Given the description of an element on the screen output the (x, y) to click on. 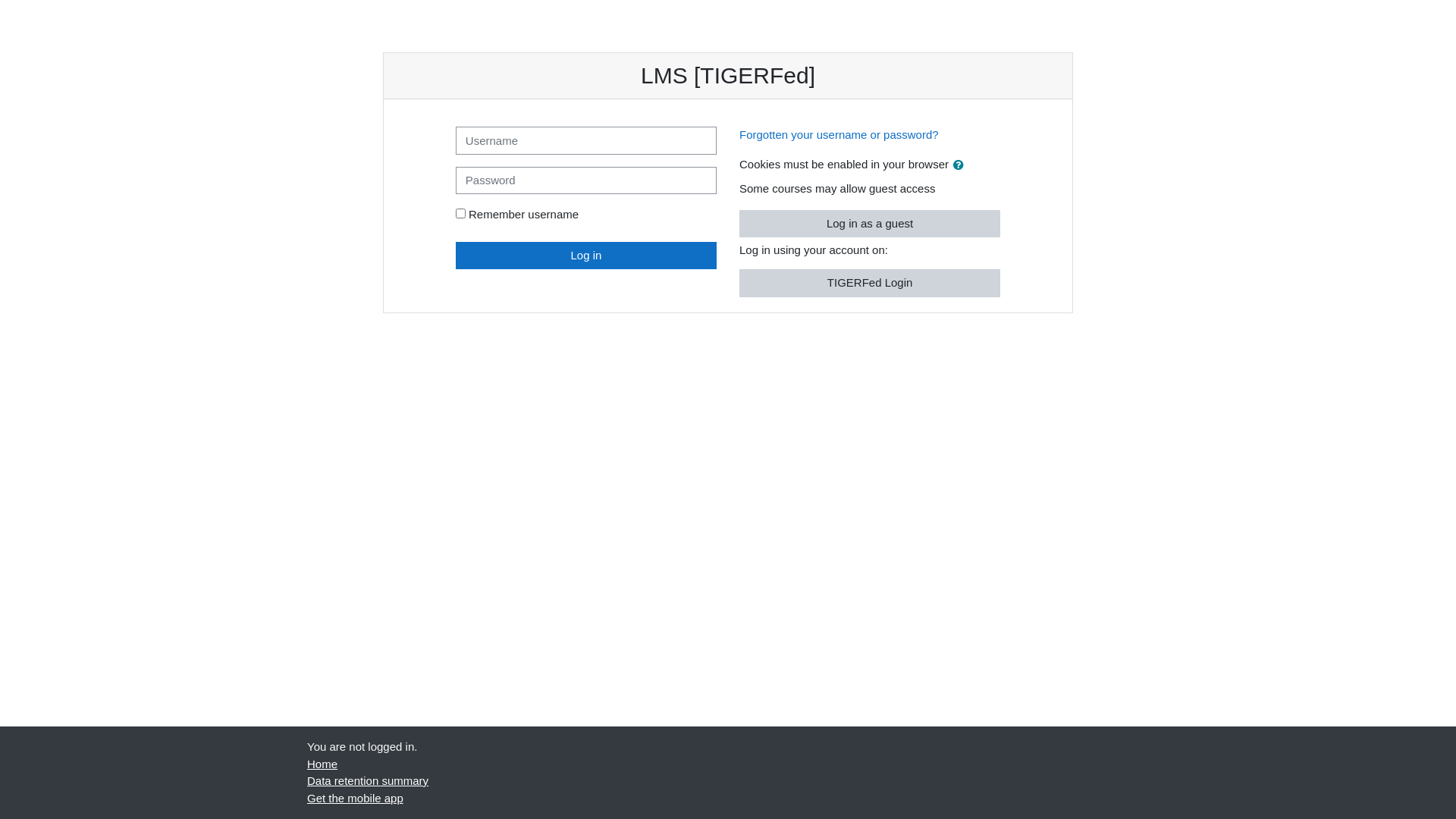
Log in as a guest Element type: text (869, 223)
Log in Element type: text (585, 255)
Get the mobile app Element type: text (355, 797)
Home Element type: text (322, 762)
TIGERFed Login Element type: text (869, 283)
Forgotten your username or password? Element type: text (838, 134)
Help with Cookies must be enabled in your browser Element type: hover (958, 163)
Data retention summary Element type: text (367, 780)
